Given the description of an element on the screen output the (x, y) to click on. 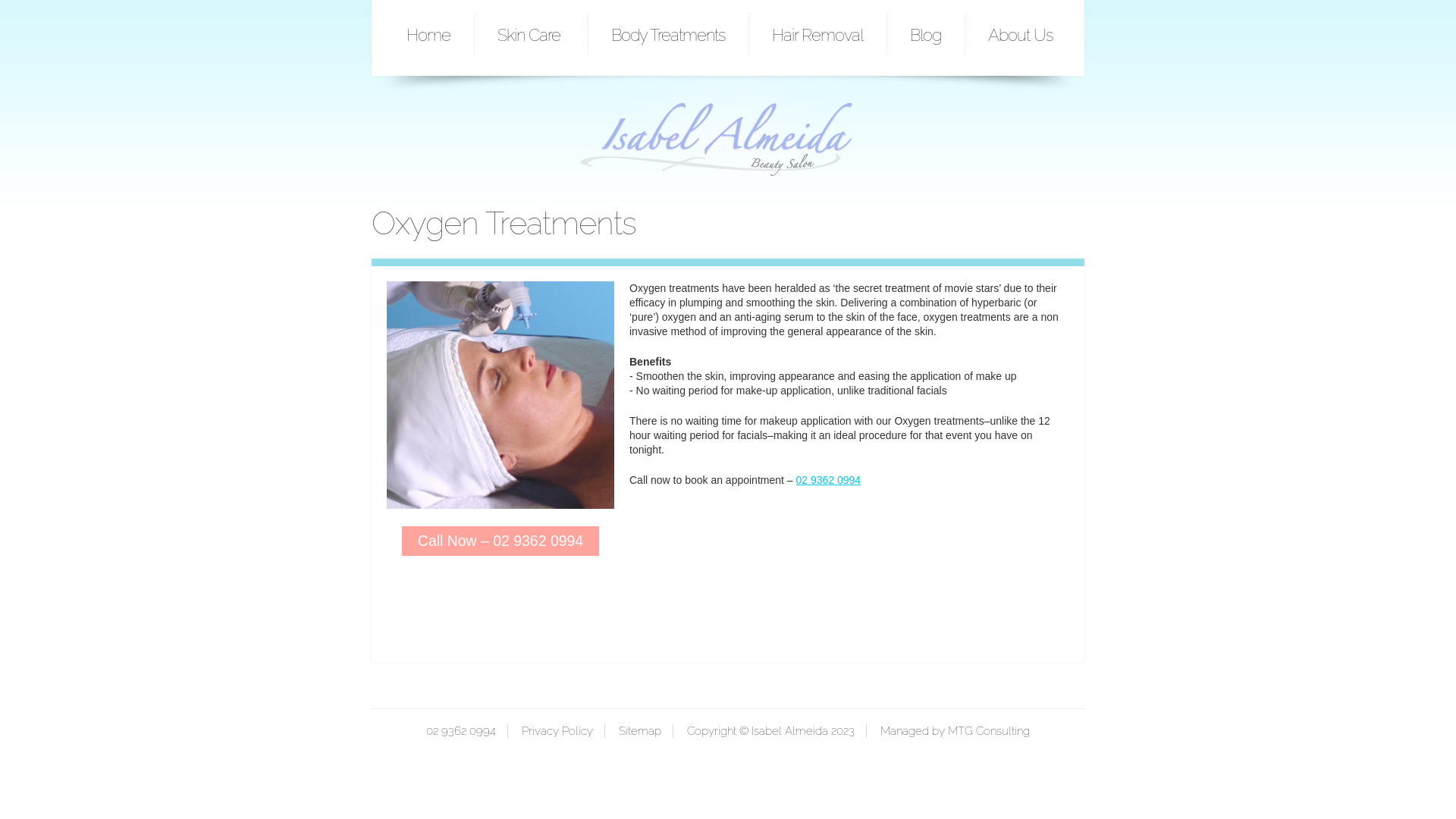
02 9362 0994 Element type: text (827, 479)
Sitemap Element type: text (632, 730)
Hair Removal Element type: text (817, 34)
Privacy Policy Element type: text (550, 730)
Blog Element type: text (925, 34)
02 9362 0994 Element type: text (460, 730)
About Us Element type: text (1020, 34)
Body Treatments Element type: text (667, 34)
Managed by MTG Consulting Element type: text (947, 730)
Skin Care  Element type: text (530, 34)
Home Element type: text (427, 34)
